Given the description of an element on the screen output the (x, y) to click on. 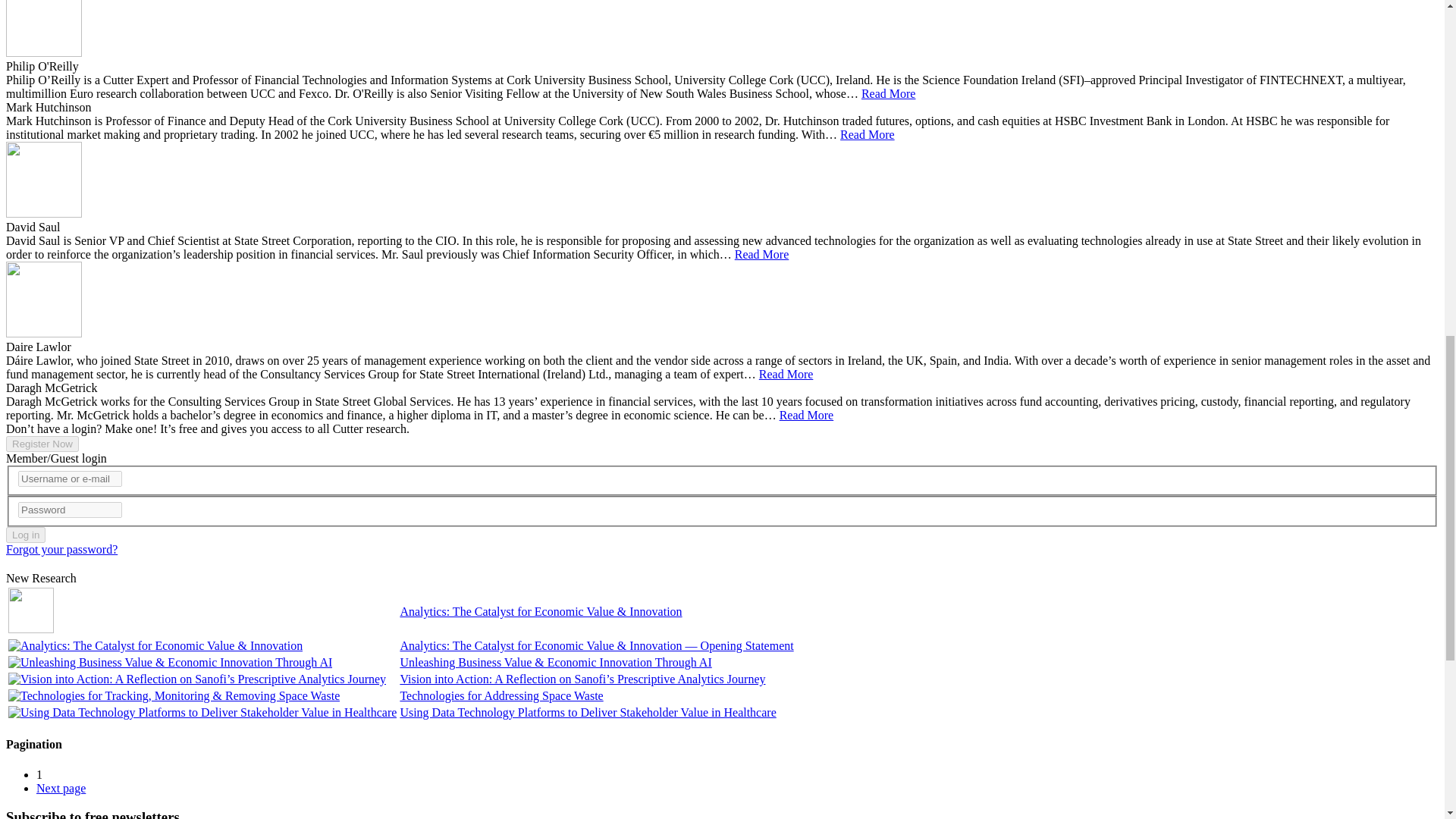
Go to next page (60, 788)
